Given the description of an element on the screen output the (x, y) to click on. 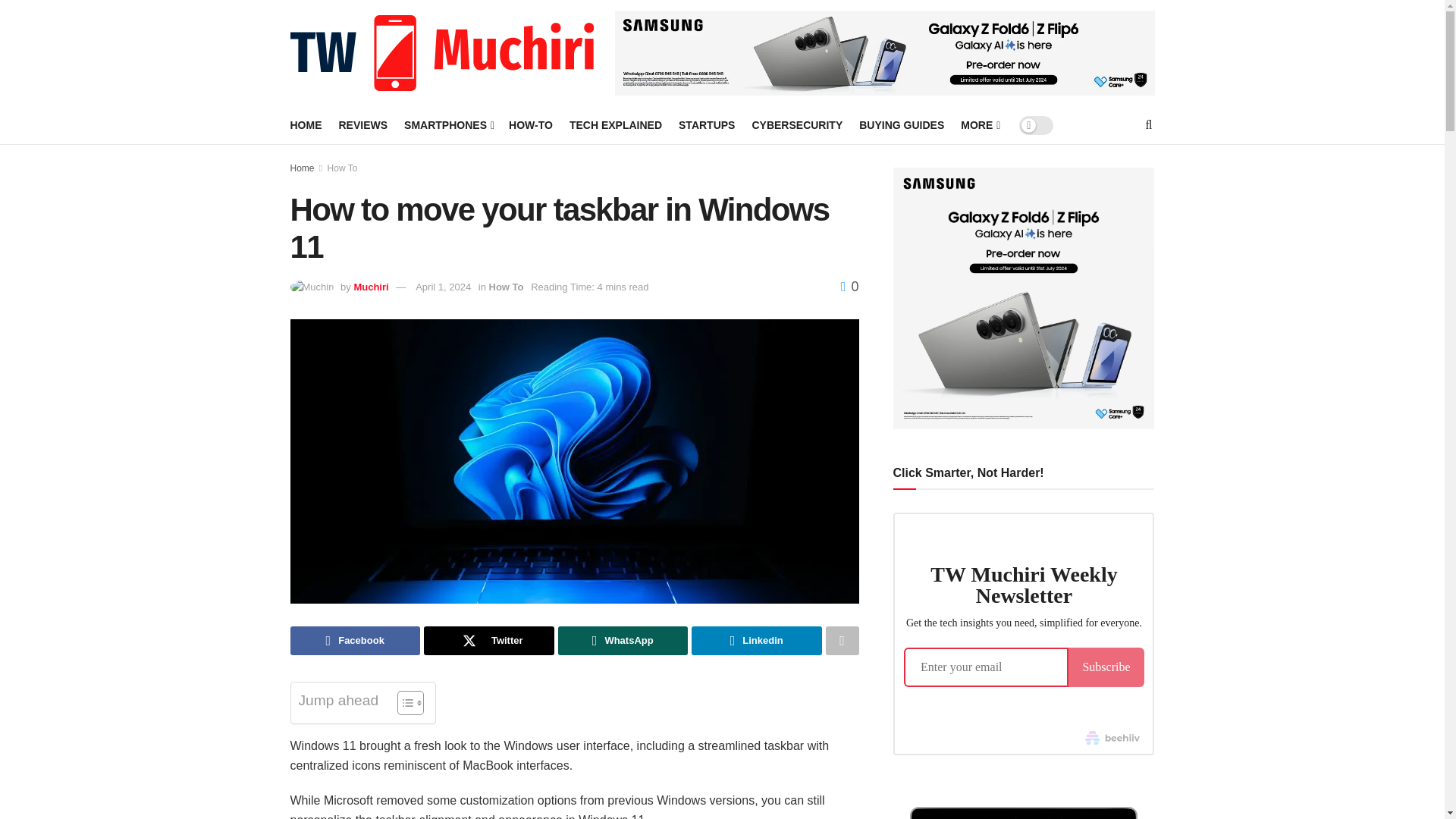
SMARTPHONES (448, 124)
STARTUPS (706, 124)
TECH EXPLAINED (615, 124)
CYBERSECURITY (797, 124)
REVIEWS (362, 124)
MORE (978, 124)
HOW-TO (530, 124)
How To (342, 167)
Home (301, 167)
HOME (305, 124)
BUYING GUIDES (901, 124)
